Given the description of an element on the screen output the (x, y) to click on. 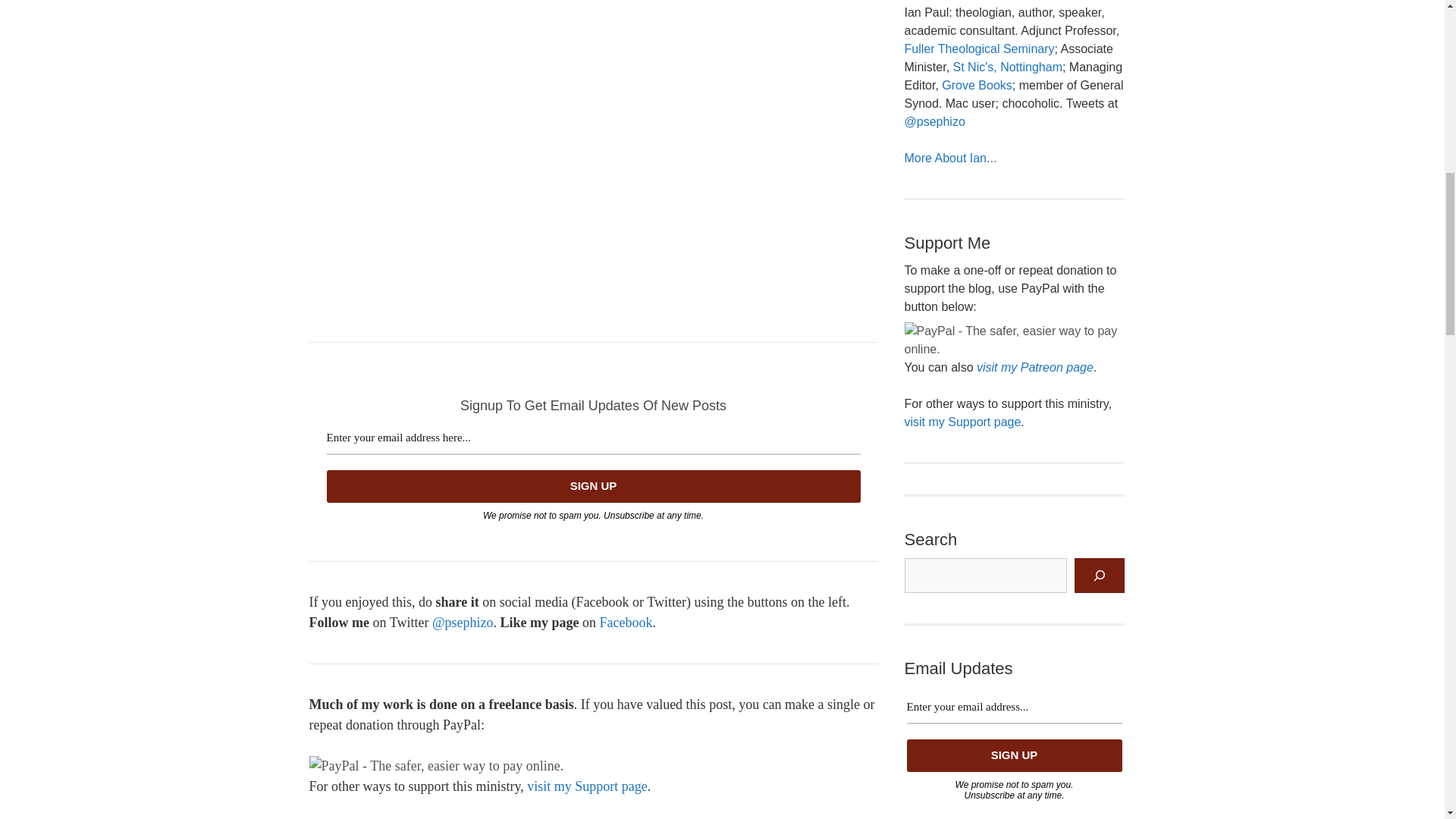
Scroll back to top (1406, 720)
Sign Up (593, 486)
Sign Up (593, 486)
Facebook (625, 622)
Sign Up (1014, 755)
visit my Support page (587, 785)
